Given the description of an element on the screen output the (x, y) to click on. 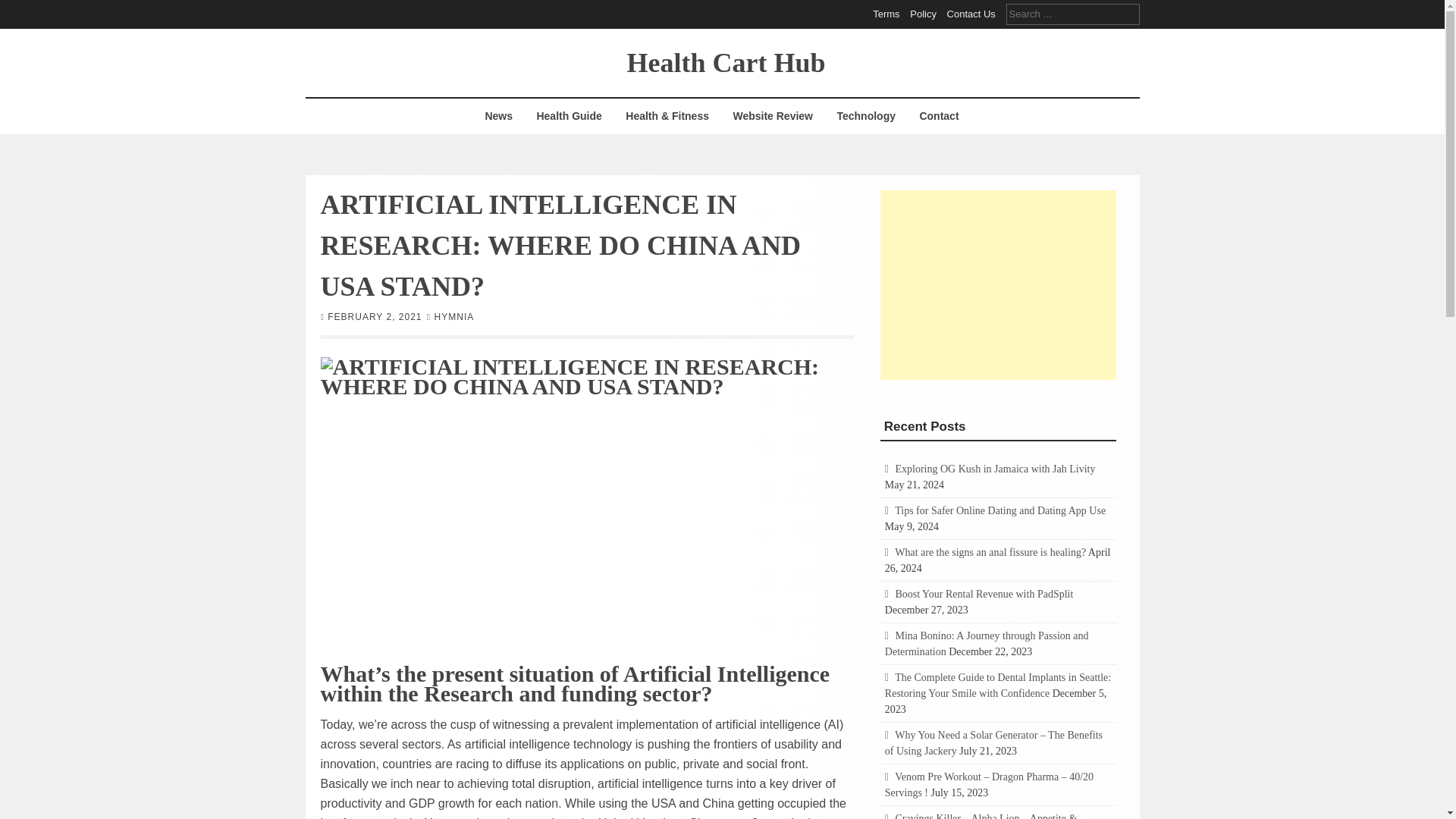
What are the signs an anal fissure is healing? (990, 552)
Boost Your Rental Revenue with PadSplit (984, 593)
FEBRUARY 2, 2021 (374, 316)
Terms (885, 13)
Mina Bonino: A Journey through Passion and Determination (987, 643)
Search (23, 9)
Website Review (772, 116)
Advertisement (998, 284)
News (498, 116)
Health Cart Hub (725, 61)
Technology (866, 116)
Contact (938, 116)
Health Guide (568, 116)
Exploring OG Kush in Jamaica with Jah Livity (994, 469)
